Given the description of an element on the screen output the (x, y) to click on. 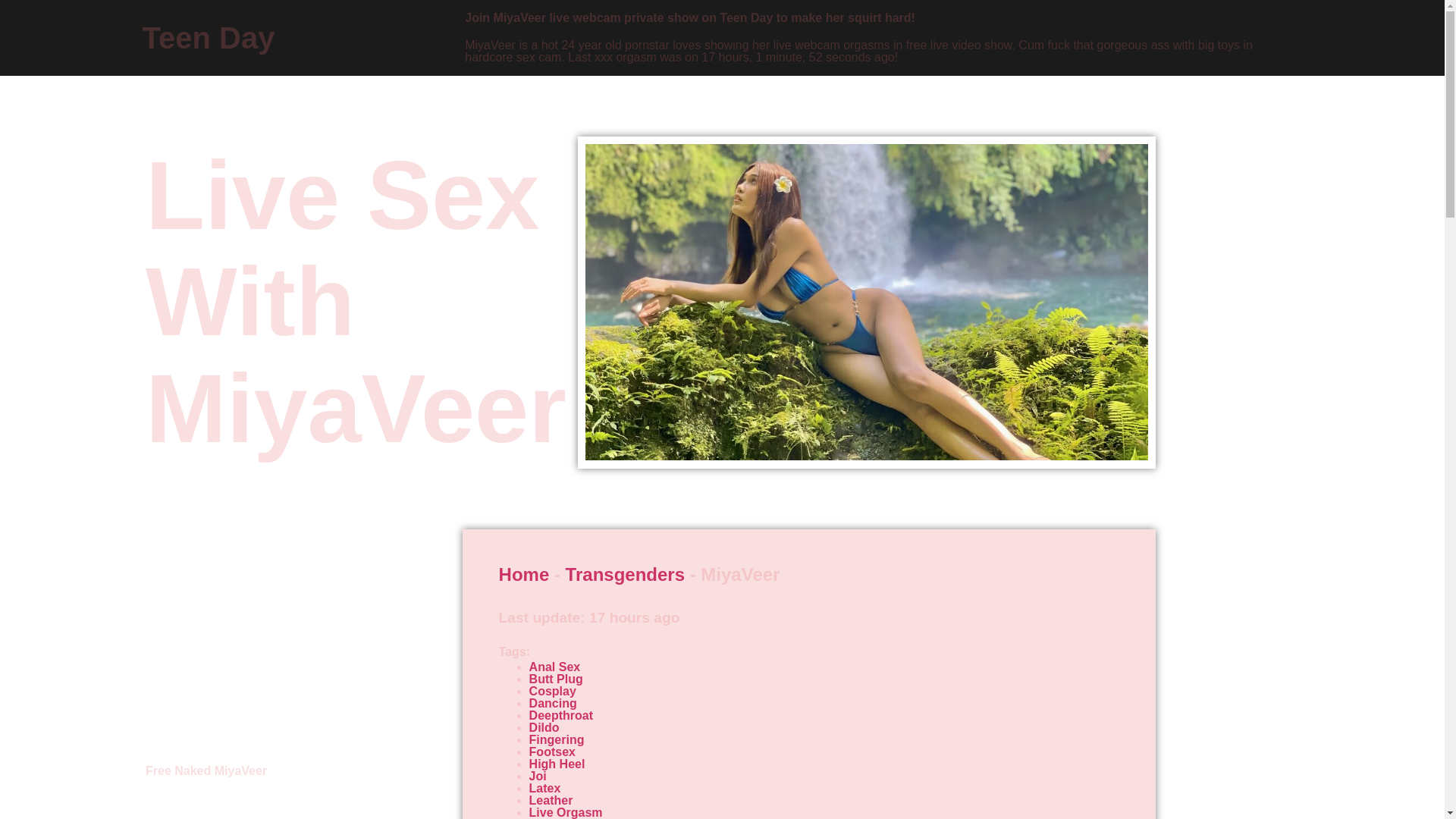
Dancing (552, 703)
High Heel (557, 763)
Live Orgasm (565, 812)
Leather (551, 799)
Anal Sex (554, 666)
Love Balls (559, 818)
Joi (538, 775)
Cosplay (552, 690)
Love Balls (559, 818)
Fingering (557, 739)
Butt Plug (556, 678)
Home (524, 574)
Footsex (552, 751)
Free Naked MiyaVeer (205, 770)
Deepthroat (560, 715)
